Given the description of an element on the screen output the (x, y) to click on. 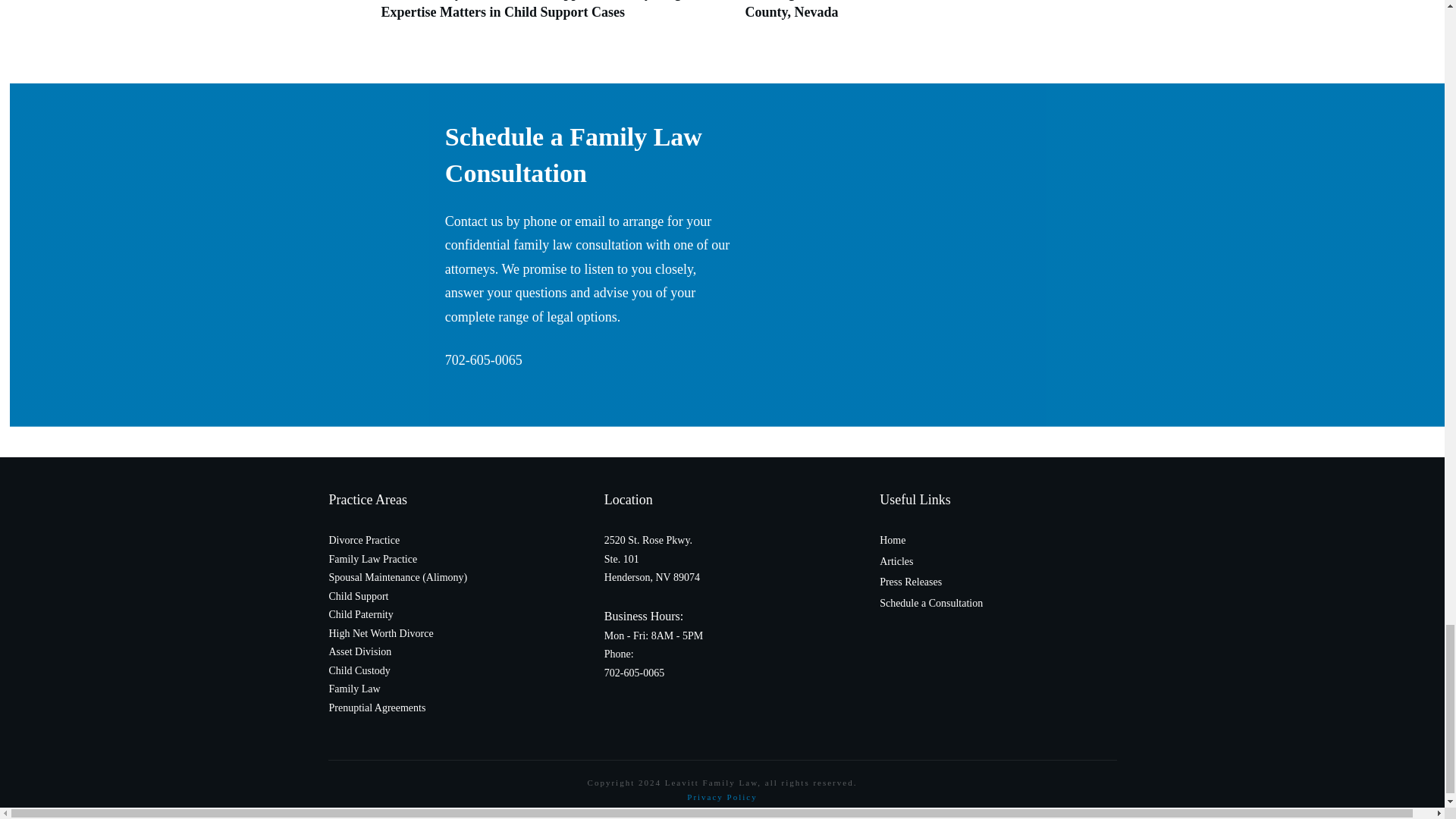
Call us at 702-605-0065 (483, 359)
